Given the description of an element on the screen output the (x, y) to click on. 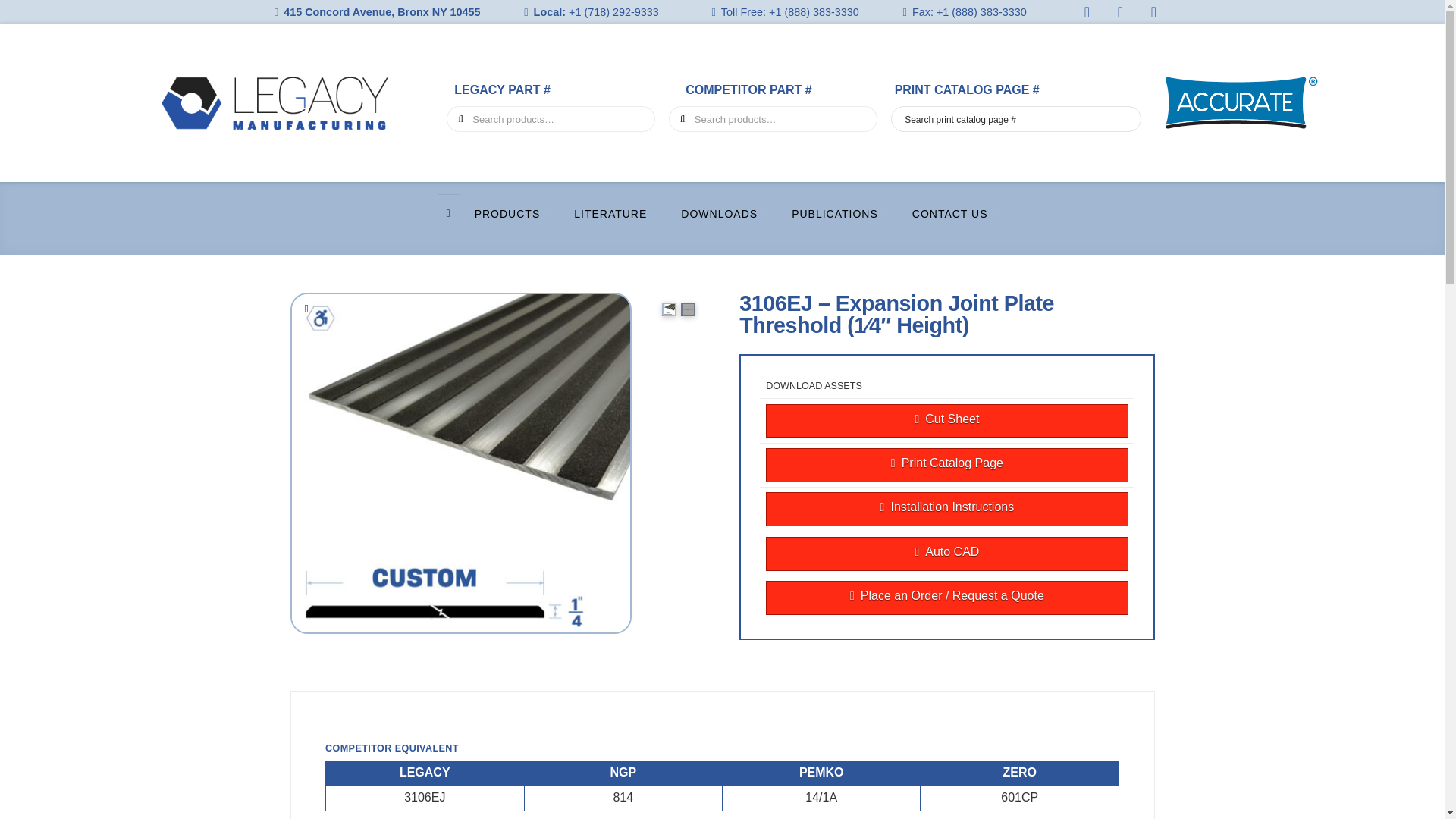
PRODUCTS (509, 213)
Home (447, 213)
Cut Sheet (945, 421)
LITERATURE (612, 213)
Installation Instructions (945, 509)
DOWNLOADS (720, 213)
Search (33, 17)
Catalog (945, 464)
Quote (945, 597)
AutoCAD (945, 553)
